Given the description of an element on the screen output the (x, y) to click on. 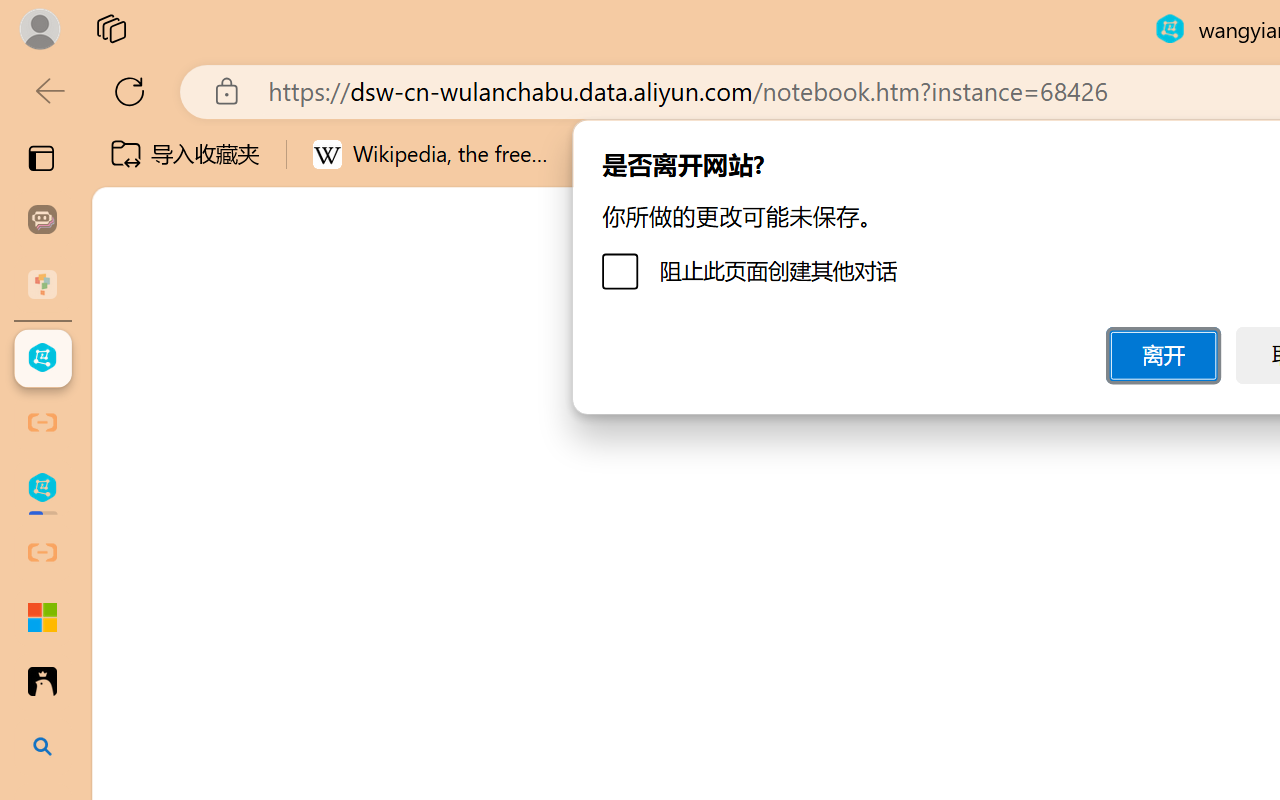
Run and Debug (Ctrl+Shift+D) (135, 692)
Explorer (Ctrl+Shift+E) (135, 432)
wangyian_dsw - DSW (42, 357)
Adjust indents and spacing - Microsoft Support (42, 617)
Search (Ctrl+Shift+F) (135, 519)
Application Menu (135, 358)
Source Control (Ctrl+Shift+G) (135, 604)
Class: menubar compact overflow-menu-only (135, 358)
Explorer actions (390, 358)
